Given the description of an element on the screen output the (x, y) to click on. 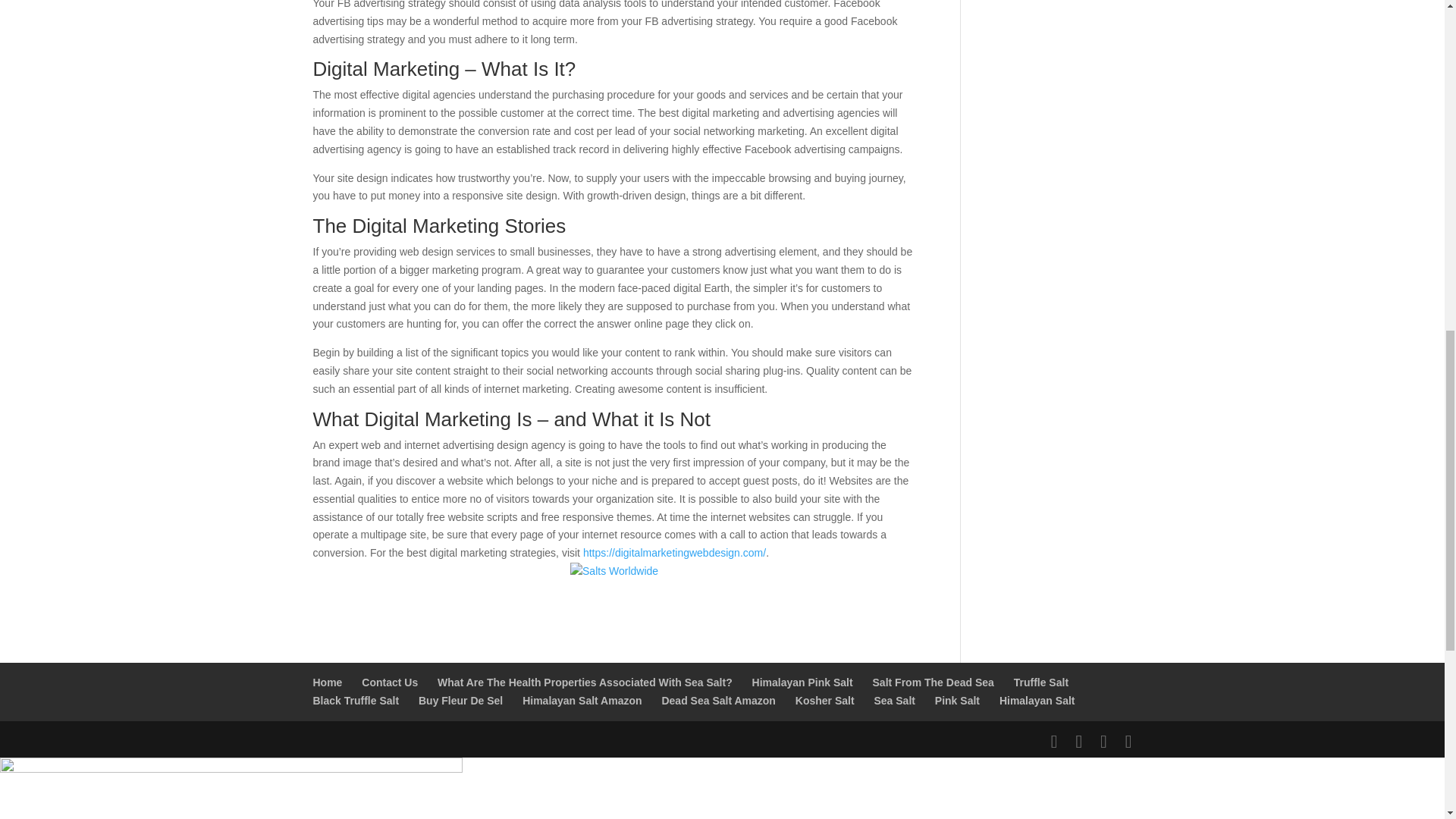
Salt From The Dead Sea (933, 682)
What Are The Health Properties Associated With Sea Salt? (585, 682)
Himalayan Pink Salt (802, 682)
Pink Salt (956, 700)
Buy Fleur De Sel (460, 700)
Black Truffle Salt (355, 700)
Kosher Salt (824, 700)
Himalayan Salt (1036, 700)
Truffle Salt (1040, 682)
Himalayan Salt Amazon (582, 700)
Sea Salt (893, 700)
Home (327, 682)
Dead Sea Salt Amazon (717, 700)
Contact Us (389, 682)
